Given the description of an element on the screen output the (x, y) to click on. 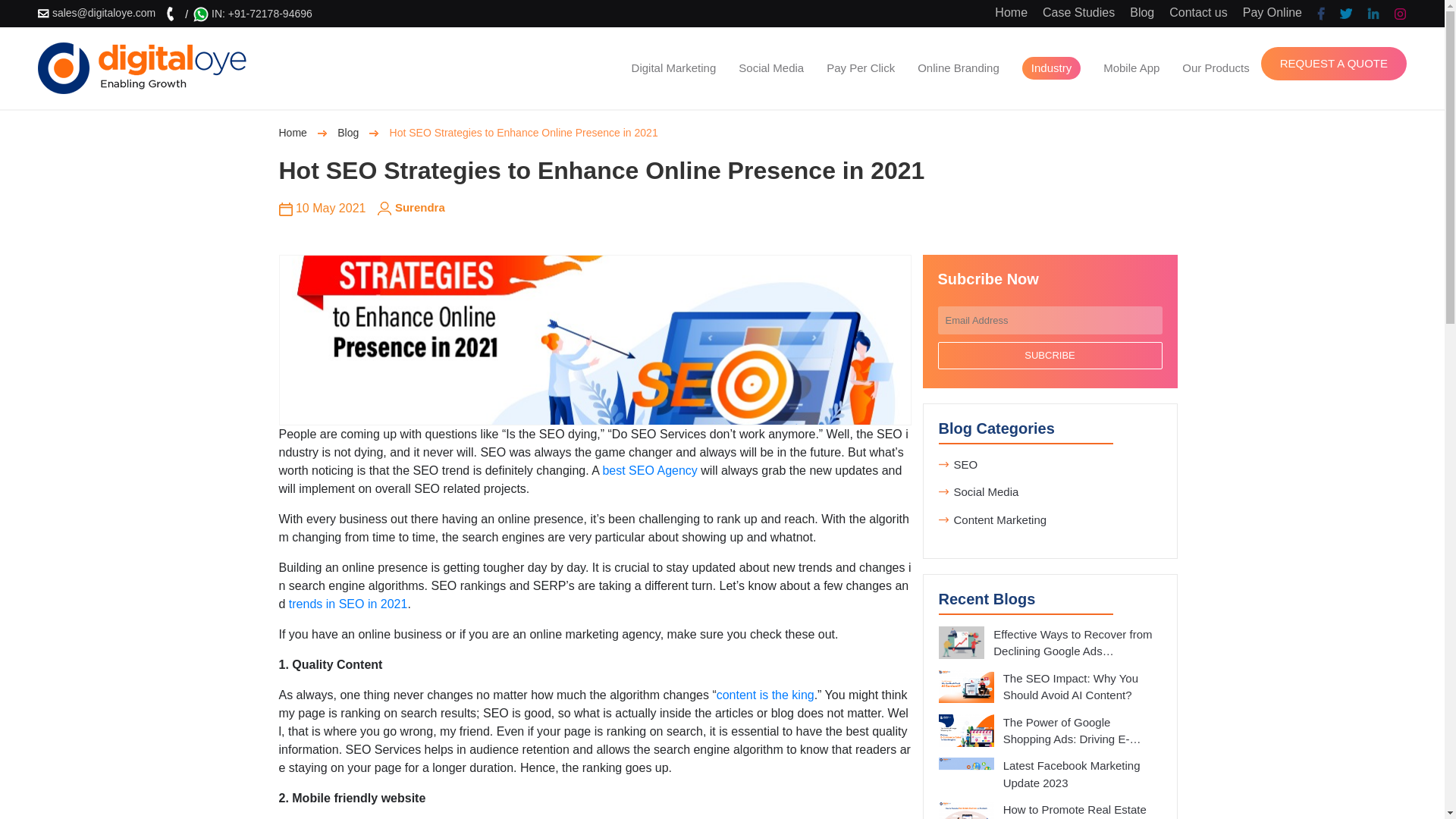
Digital Marketing (674, 67)
Social Media (770, 67)
Subcribe (1049, 355)
Blog (1141, 11)
Pay Per Click (860, 67)
Home (1010, 11)
Pay Online (1272, 11)
Contact us (1198, 11)
Hot SEO Strategies to Enhance Online Presence in 2021 (595, 339)
Case Studies (1078, 11)
